Given the description of an element on the screen output the (x, y) to click on. 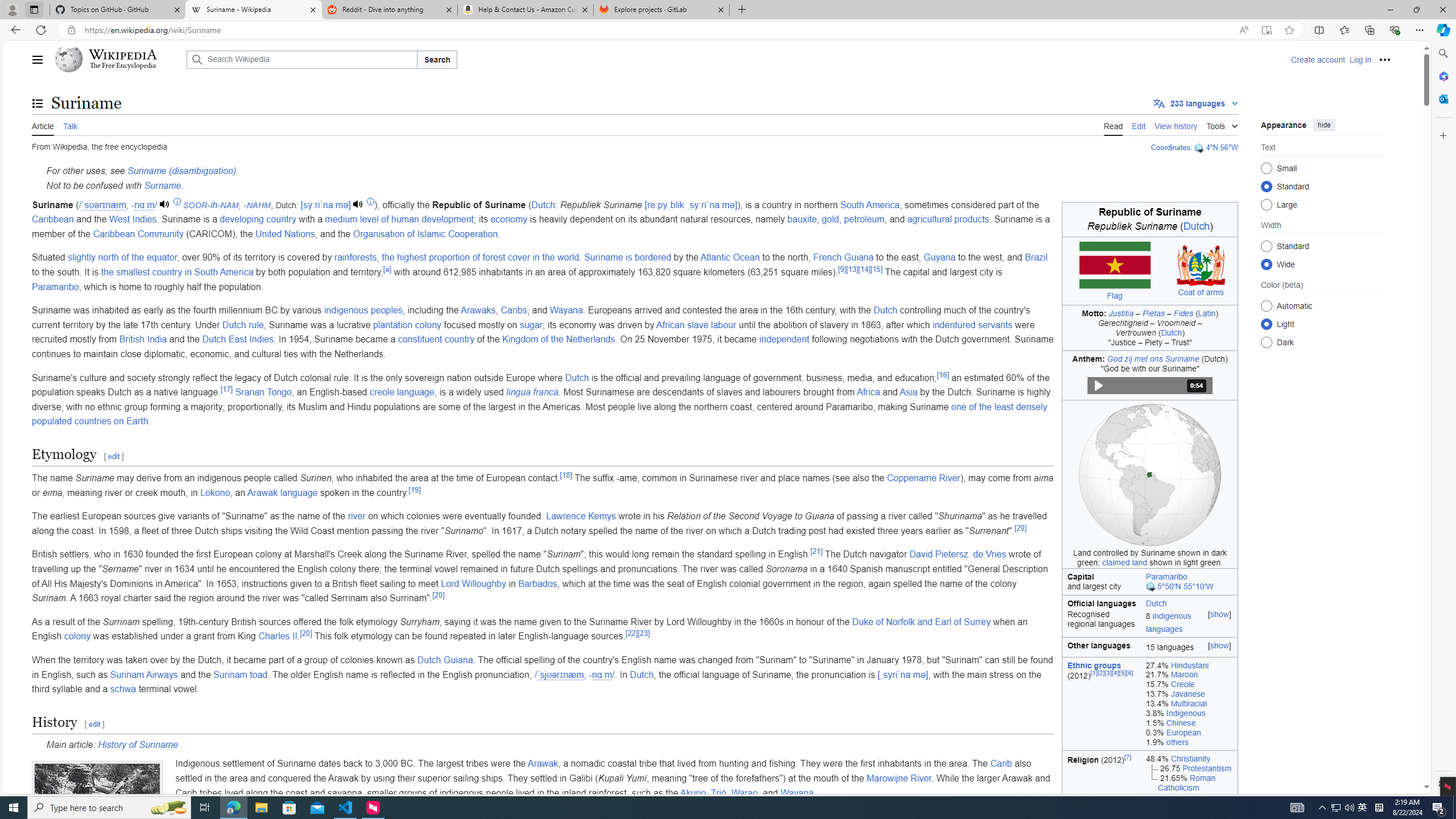
claimed land (1124, 561)
0.3% European (1189, 732)
gold (830, 219)
Coordinates (1170, 146)
Suriname (disambiguation) (180, 171)
1.9% others (1189, 741)
Flag (1114, 295)
21.65% Roman Catholicism (1189, 782)
Chinese (1180, 722)
South America (869, 204)
Article (42, 124)
13.4% Multiracial (1189, 703)
Reddit - Dive into anything (390, 9)
